Given the description of an element on the screen output the (x, y) to click on. 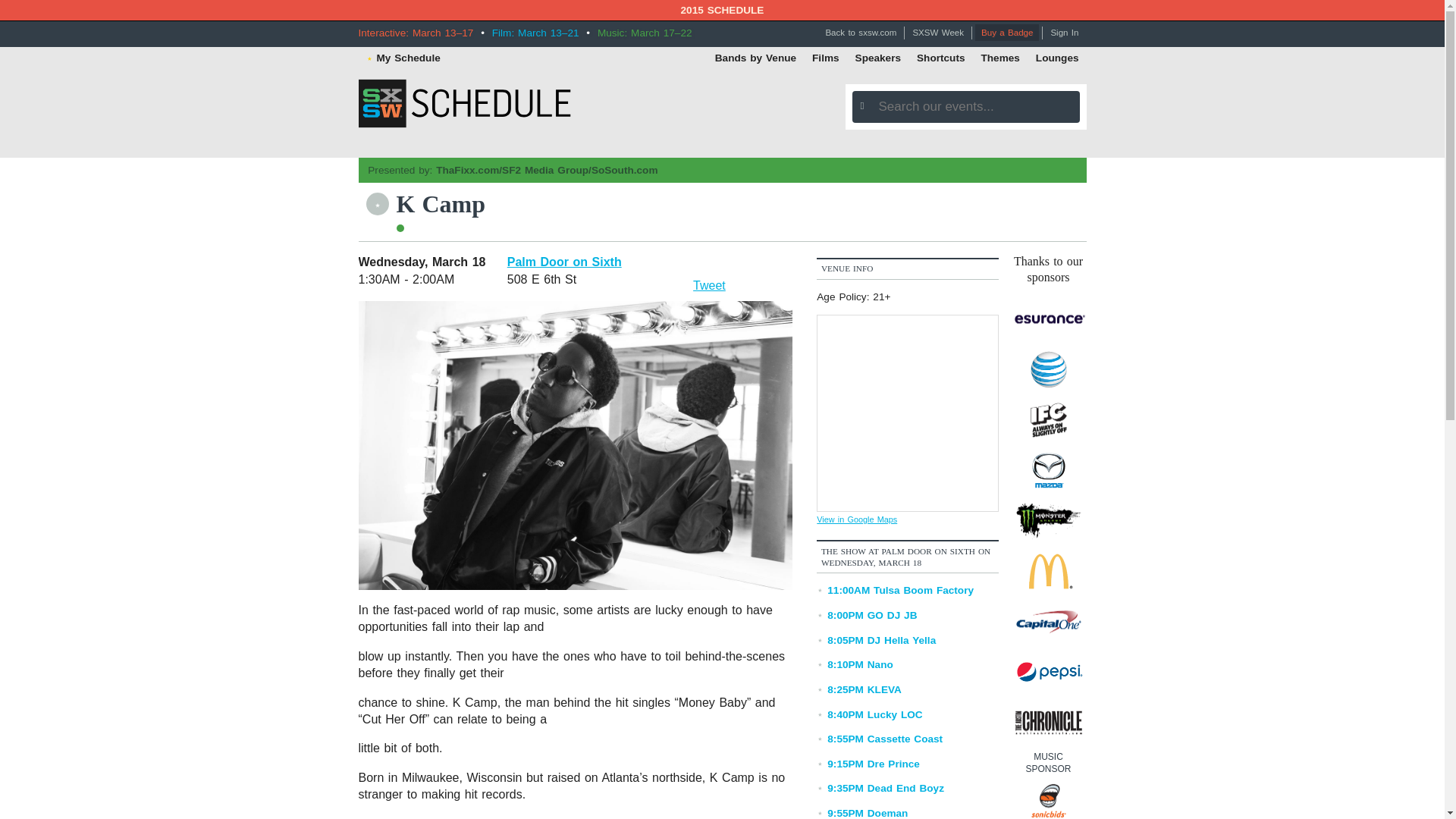
Tweet (709, 285)
SXSW Week (937, 32)
You must log in to favorite an event. (376, 203)
View in Google Maps (856, 519)
Bands by Venue (755, 56)
Shortcuts (940, 56)
Lounges (1056, 56)
Back to sxsw.com (860, 32)
Films (826, 56)
Buy a Badge (1007, 32)
Sign In (1064, 32)
Music (399, 227)
Palm Door on Sixth (563, 261)
Speakers (877, 56)
Themes (999, 56)
